Given the description of an element on the screen output the (x, y) to click on. 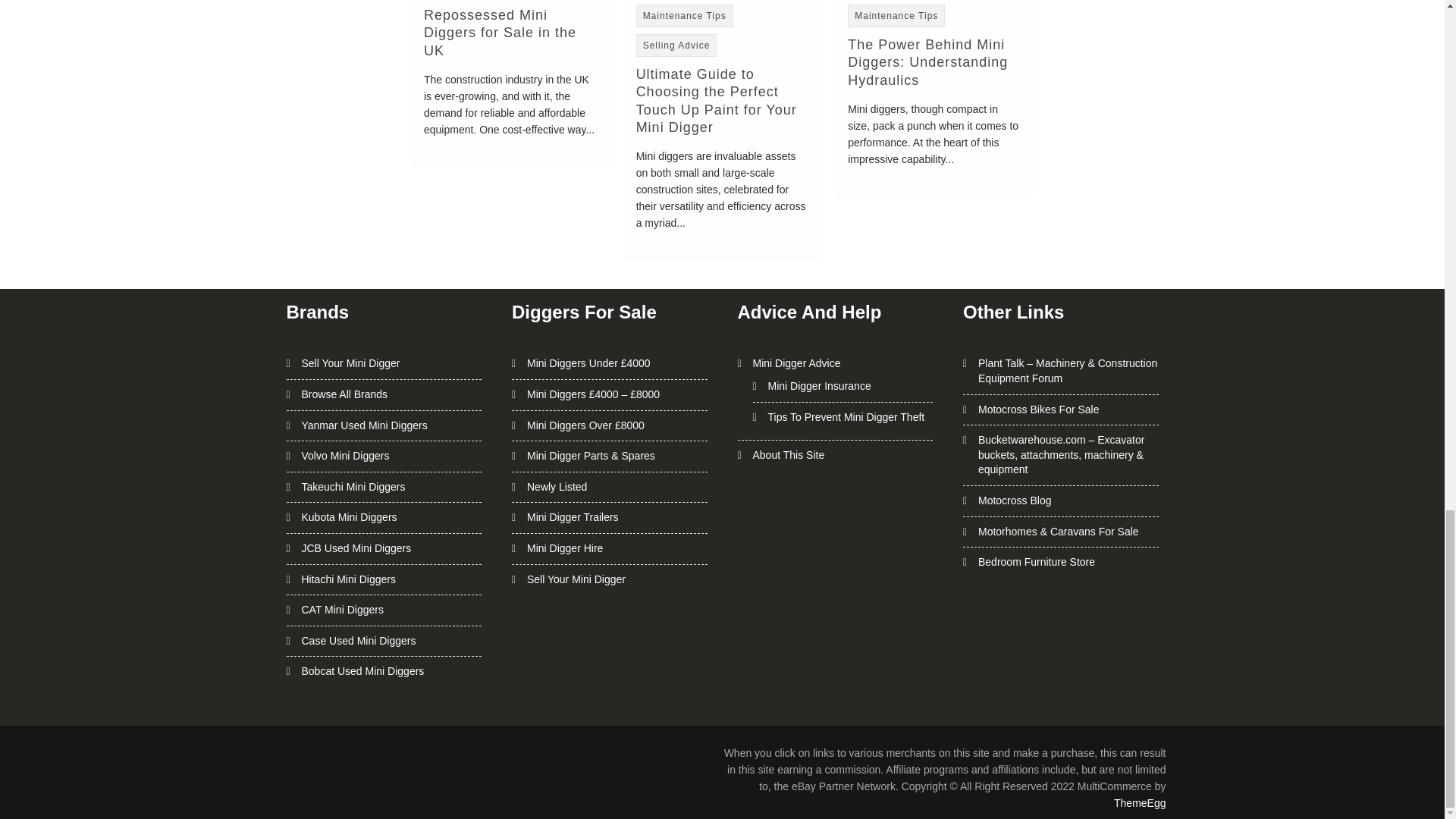
Mini Digger Parts, Spares And Accessories For Sale (591, 455)
Mini Digger Trailers For Sale (572, 517)
Newly Listed Mini Diggers For Sale (556, 486)
Mini Digger Hire (564, 548)
About Mini Diggers Website (788, 454)
